Given the description of an element on the screen output the (x, y) to click on. 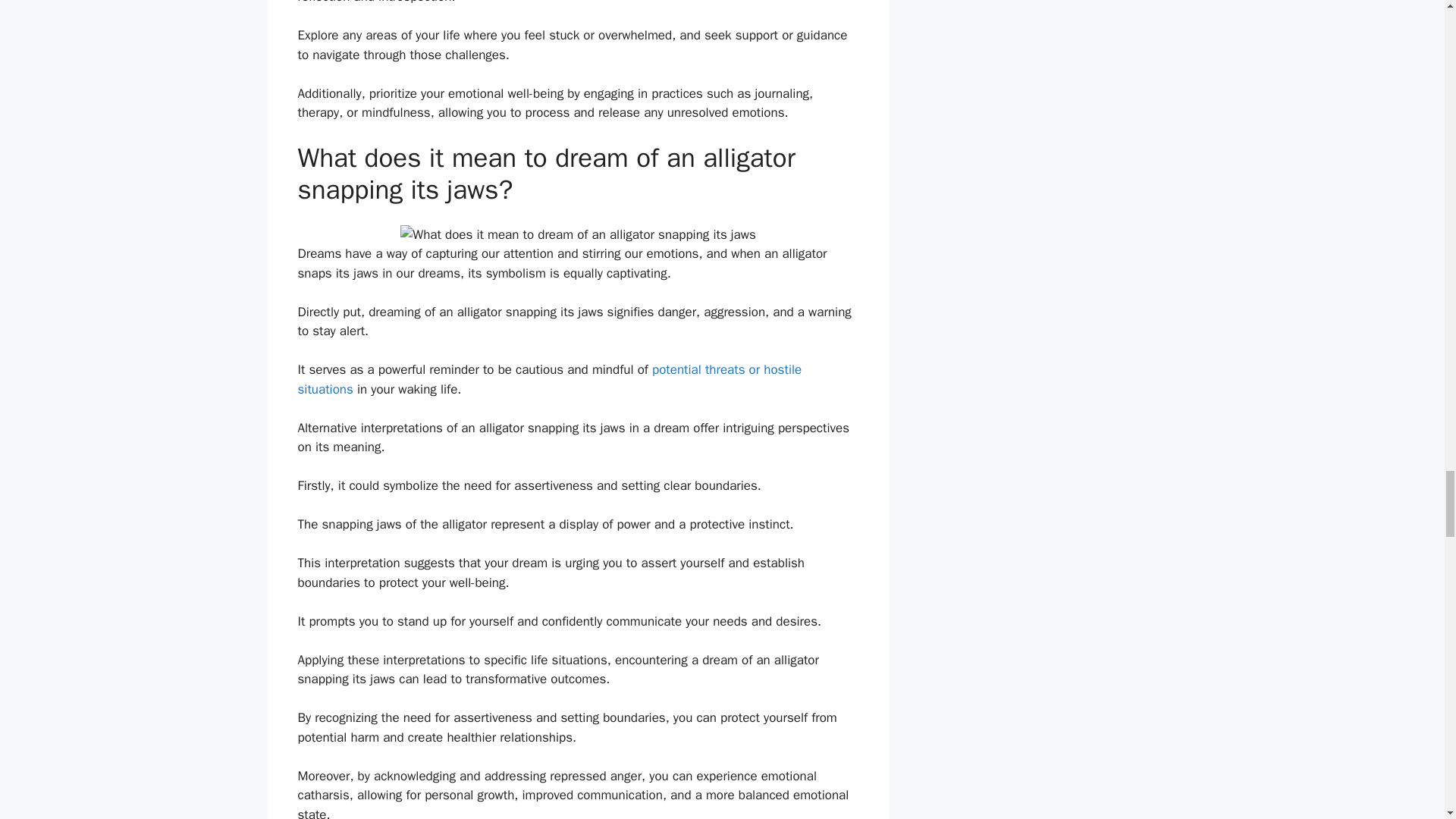
potential threats or hostile situations (549, 379)
